Given the description of an element on the screen output the (x, y) to click on. 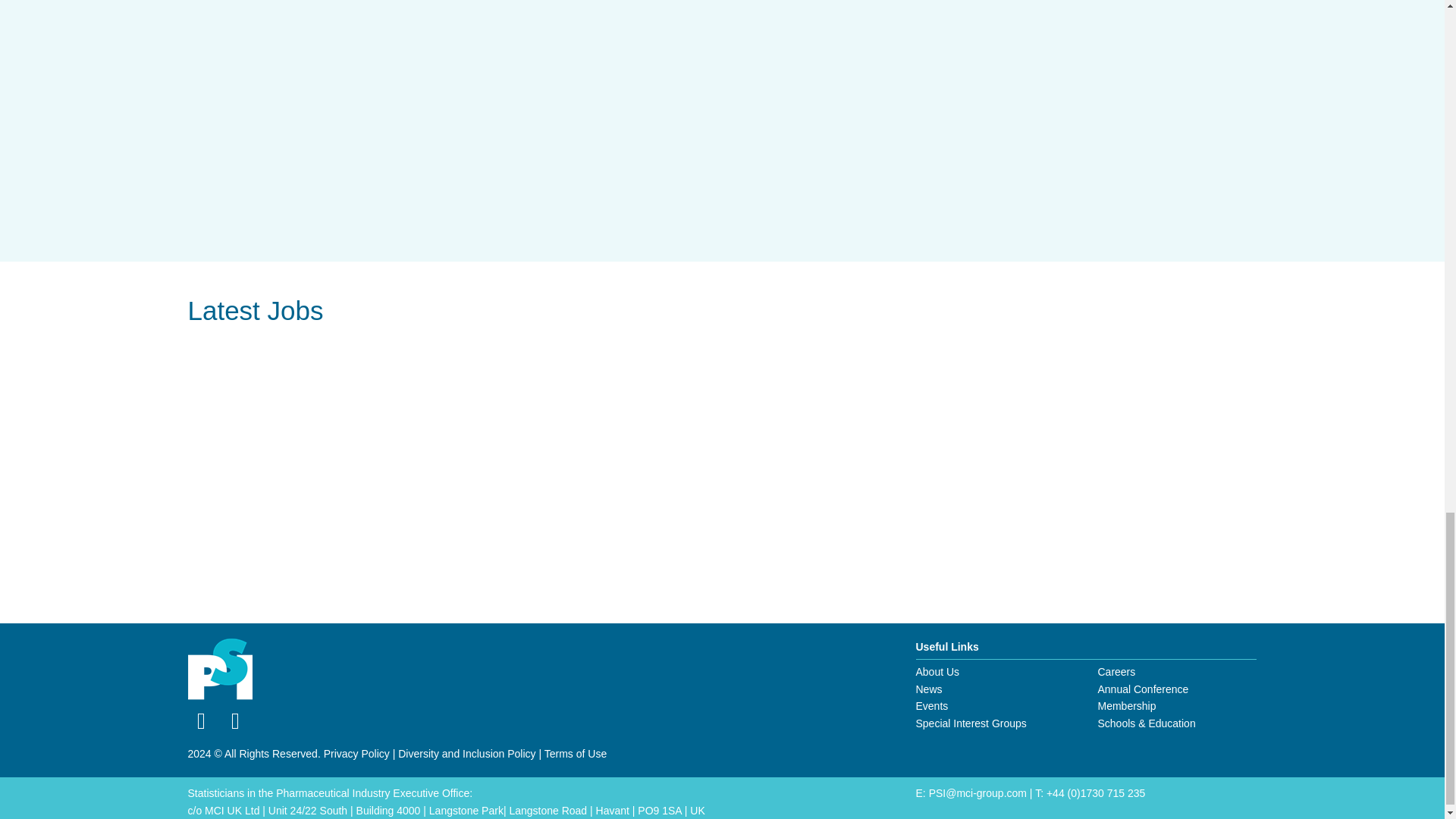
PSI (219, 670)
